Given the description of an element on the screen output the (x, y) to click on. 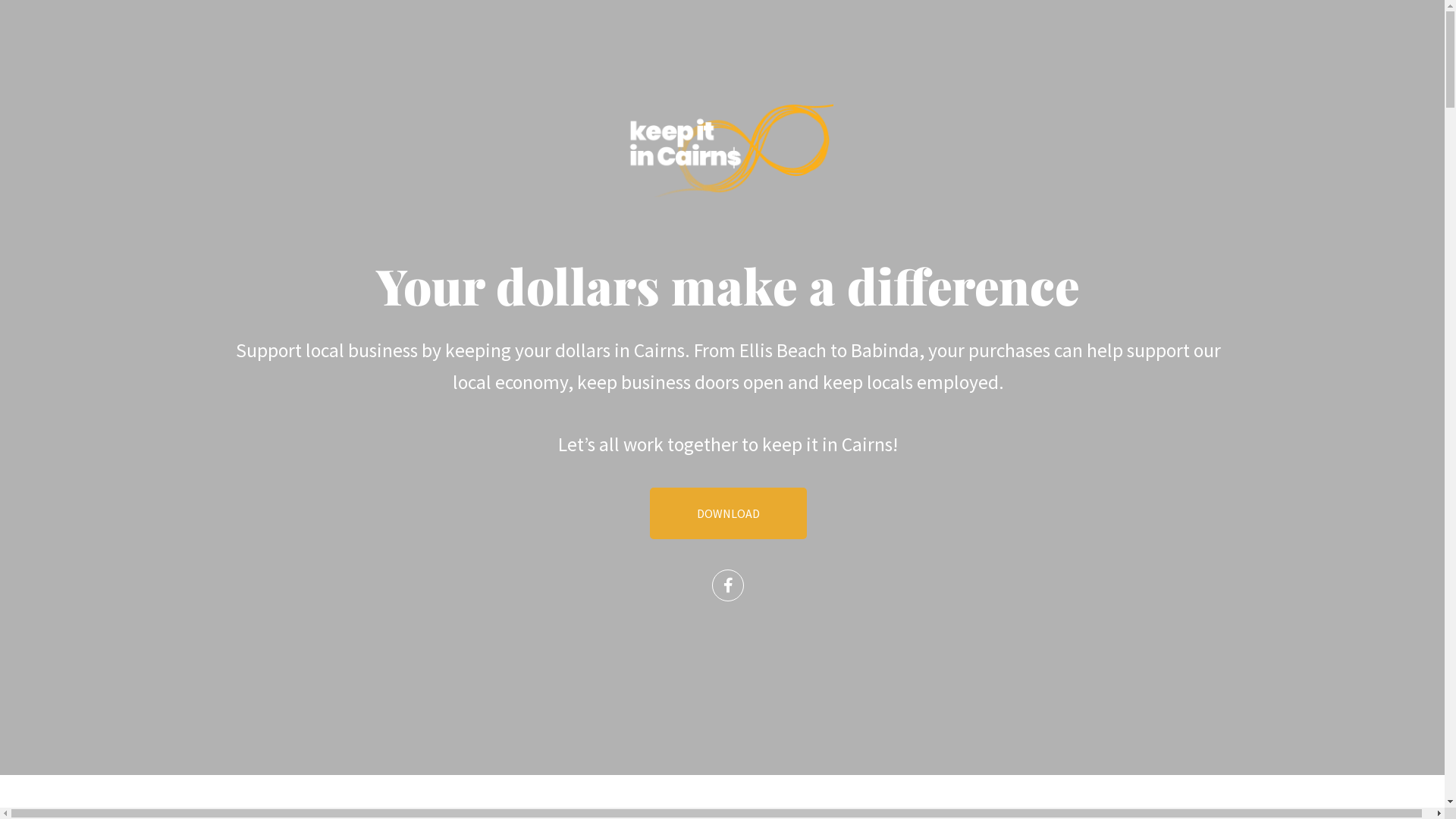
DOWNLOAD Element type: text (727, 513)
